Given the description of an element on the screen output the (x, y) to click on. 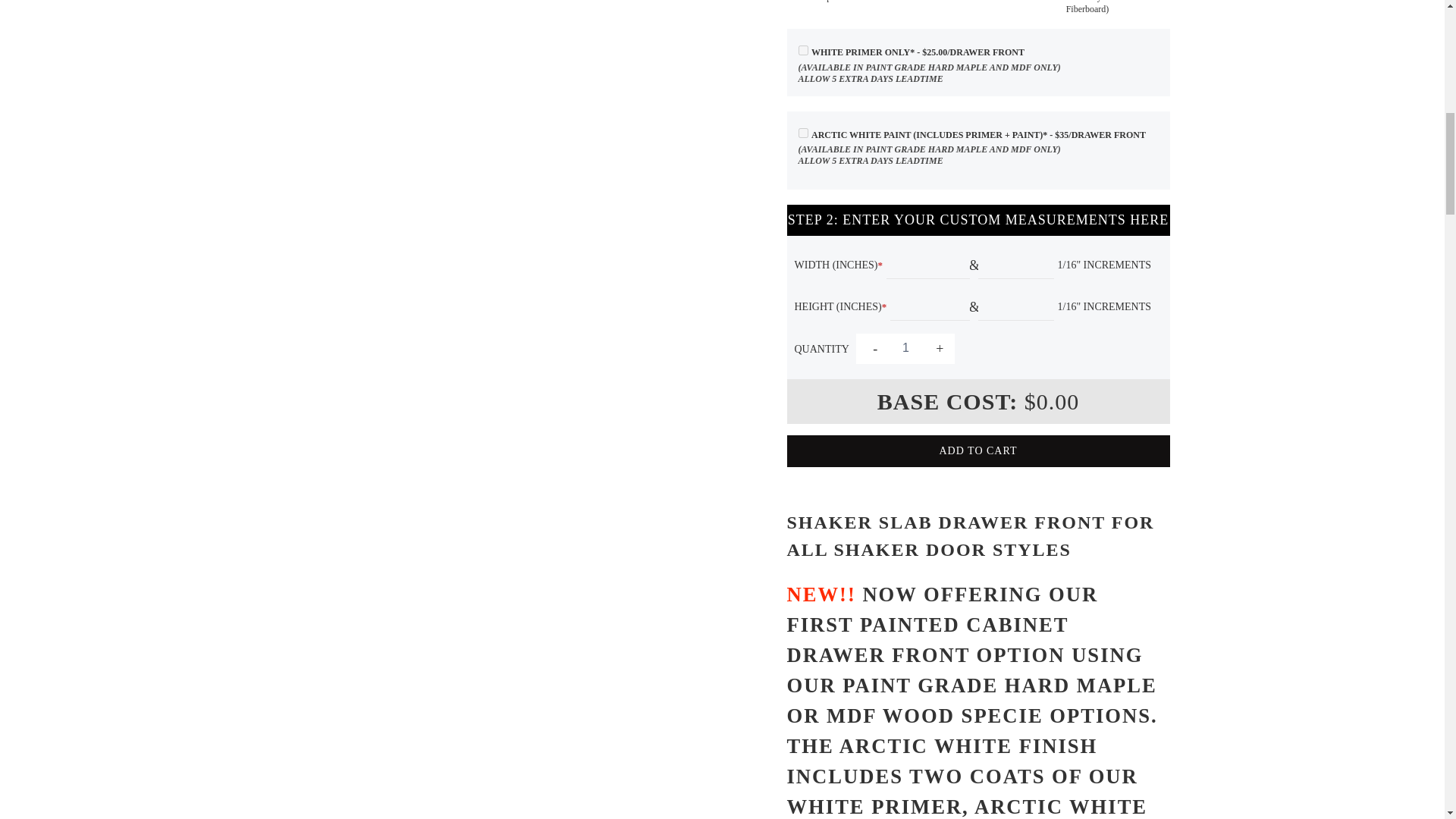
Yes (802, 50)
1 (904, 347)
Yes (802, 132)
